Given the description of an element on the screen output the (x, y) to click on. 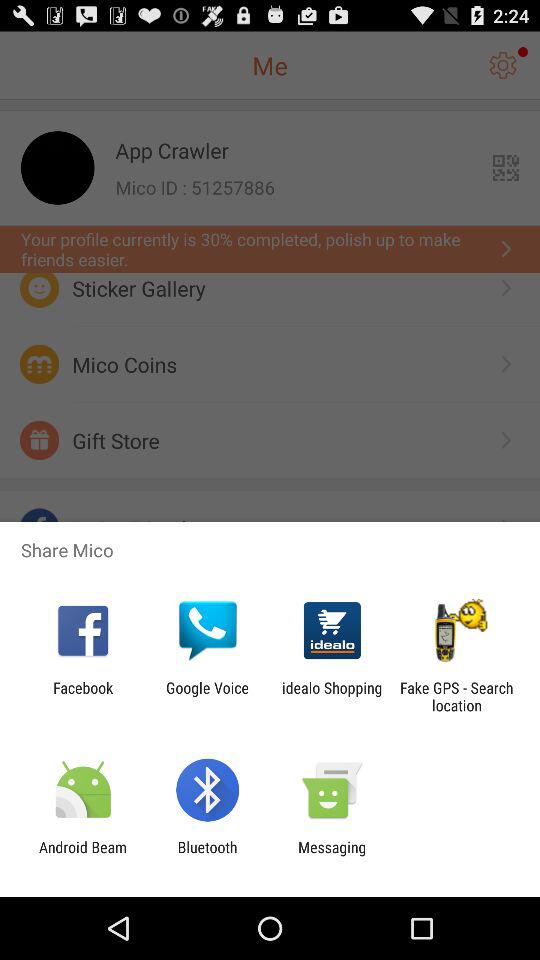
launch icon to the right of bluetooth icon (332, 856)
